Given the description of an element on the screen output the (x, y) to click on. 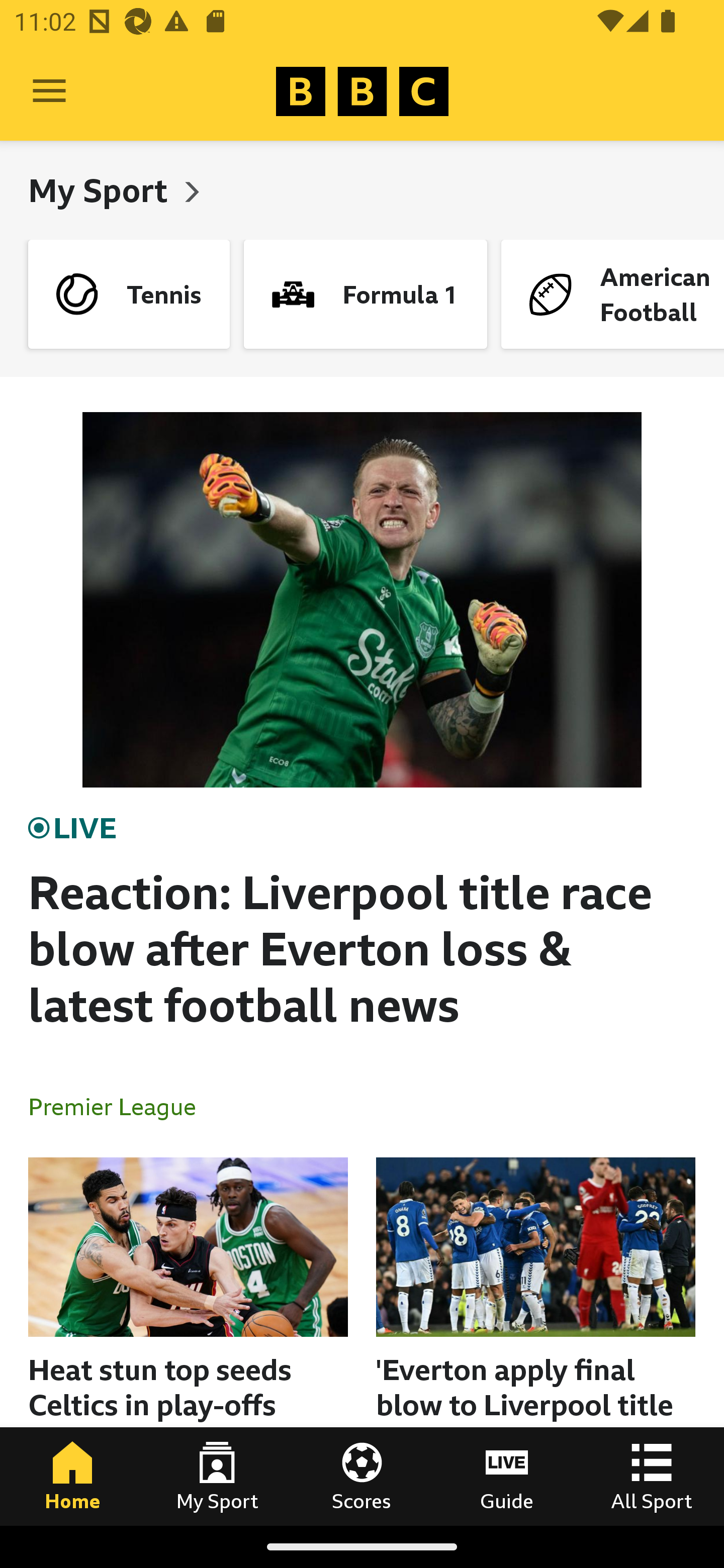
Open Menu (49, 91)
My Sport (101, 190)
Premier League In the section Premier League (119, 1106)
My Sport (216, 1475)
Scores (361, 1475)
Guide (506, 1475)
All Sport (651, 1475)
